Given the description of an element on the screen output the (x, y) to click on. 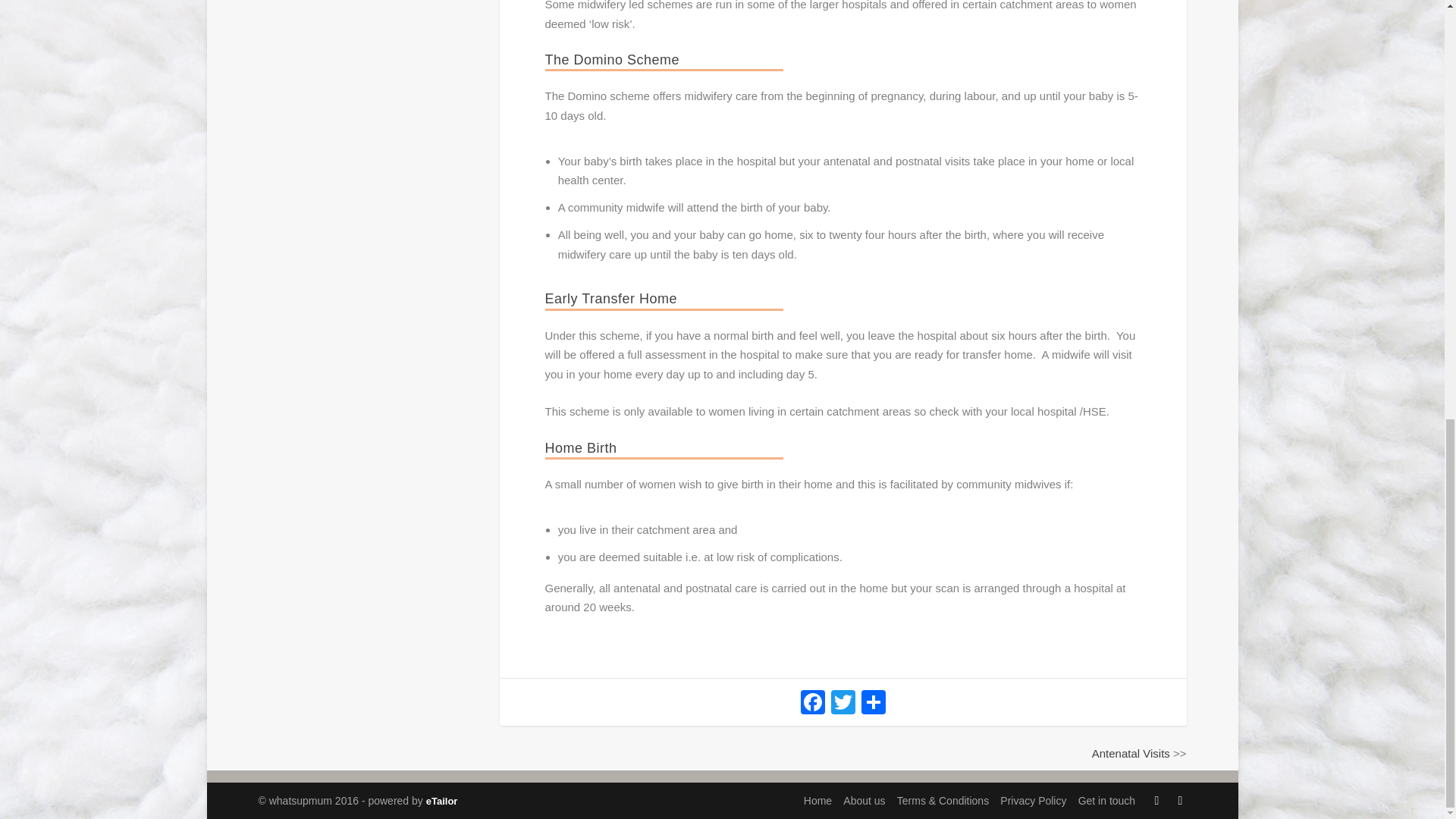
Facebook (812, 704)
Twitter (843, 704)
